Given the description of an element on the screen output the (x, y) to click on. 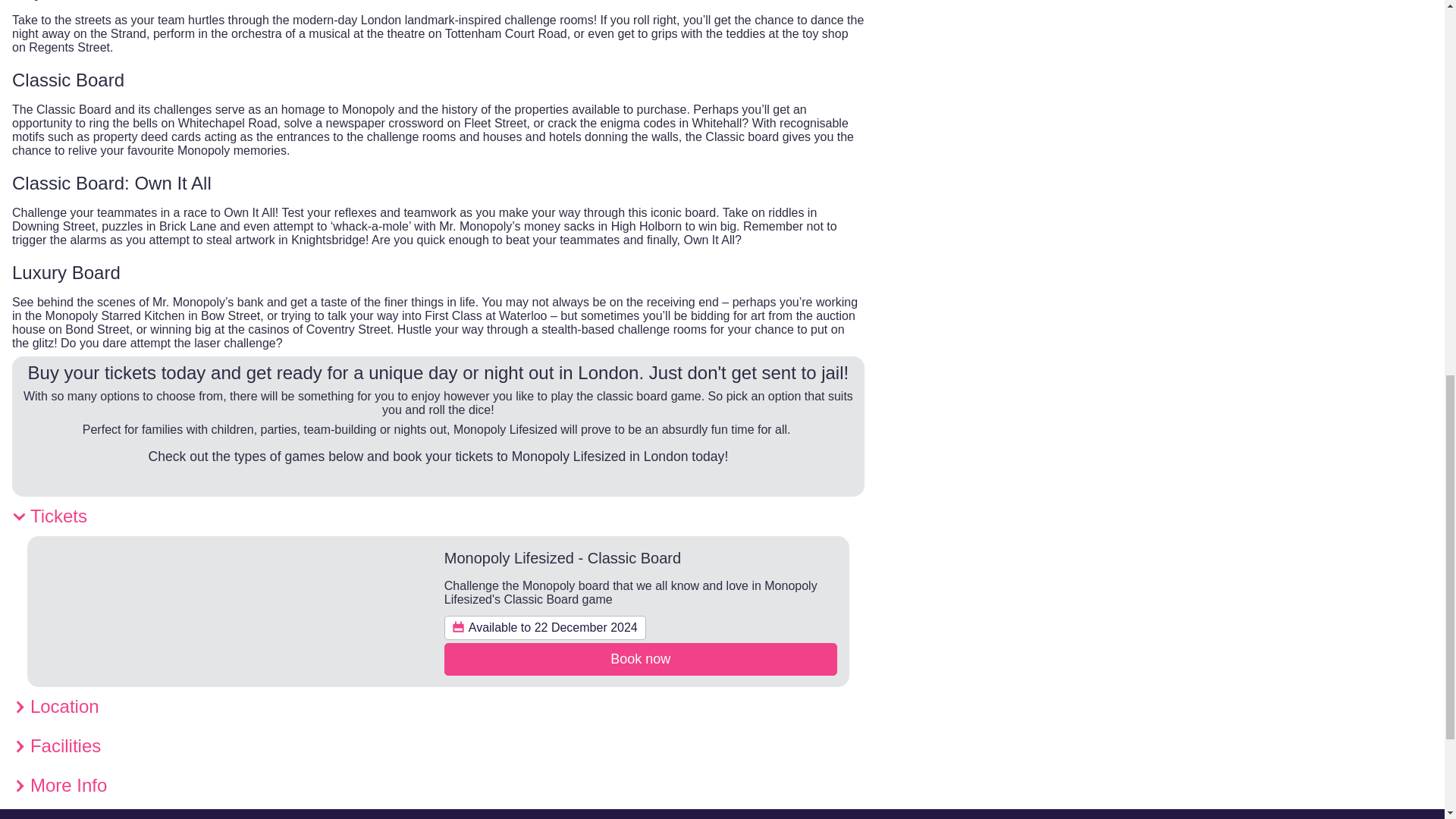
Tickets (437, 516)
Facilities (437, 745)
Monopoly Lifesized - Classic Board (562, 557)
Book now (640, 658)
More Info (437, 785)
Location (437, 706)
